Given the description of an element on the screen output the (x, y) to click on. 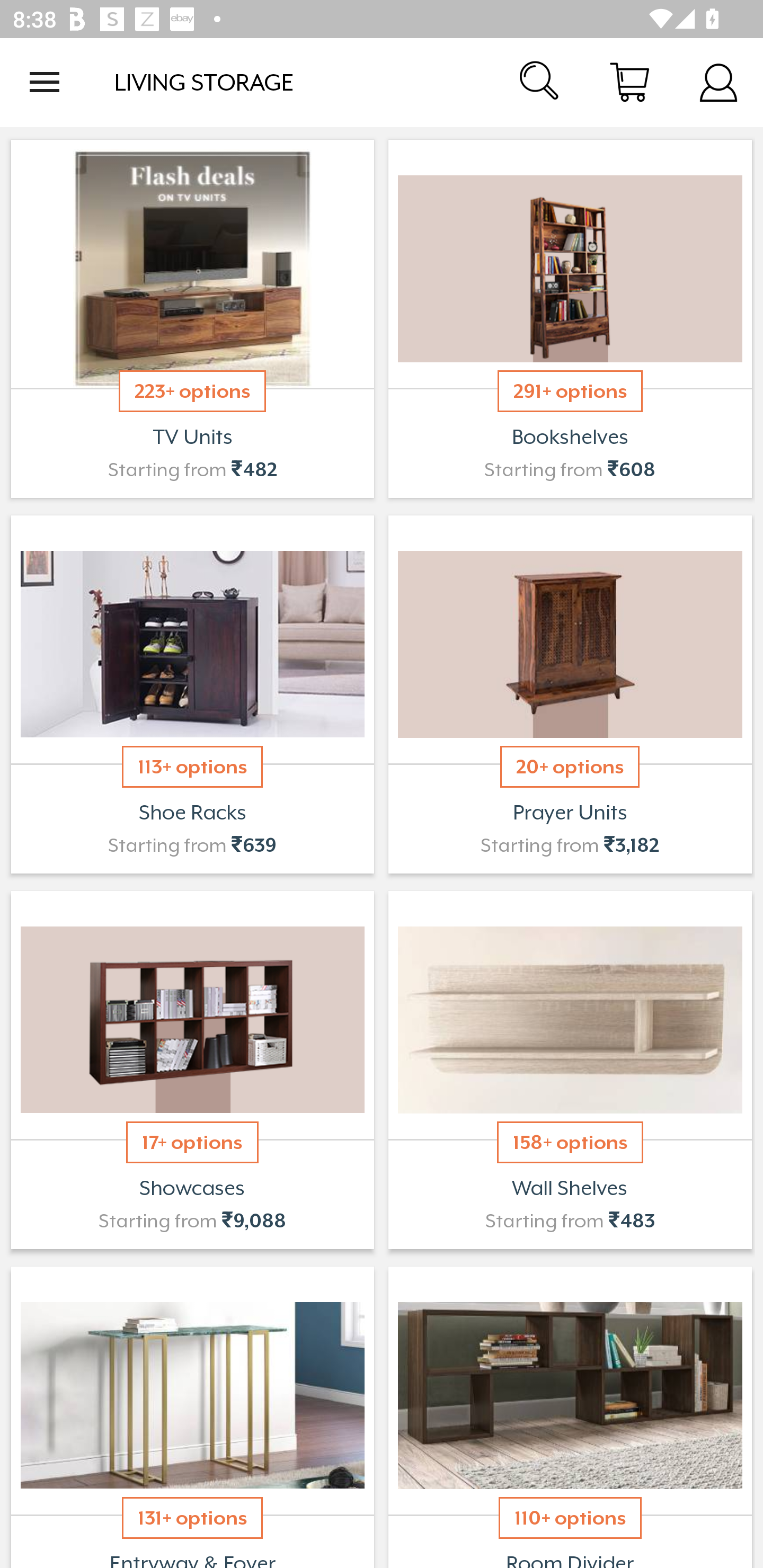
Open navigation drawer (44, 82)
Search (540, 81)
Cart (629, 81)
Account Details (718, 81)
223+ options TV Units Starting from  ₹482 (191, 318)
291+ options Bookshelves Starting from  ₹608 (570, 318)
113+ options Shoe Racks Starting from  ₹639 (191, 694)
20+ options Prayer Units Starting from  ₹3,182 (570, 694)
17+ options Showcases Starting from  ₹9,088 (191, 1069)
158+ options Wall Shelves Starting from  ₹483 (570, 1069)
131+ options Entryway & Foyer (191, 1415)
110+ options Room Divider (570, 1415)
